Given the description of an element on the screen output the (x, y) to click on. 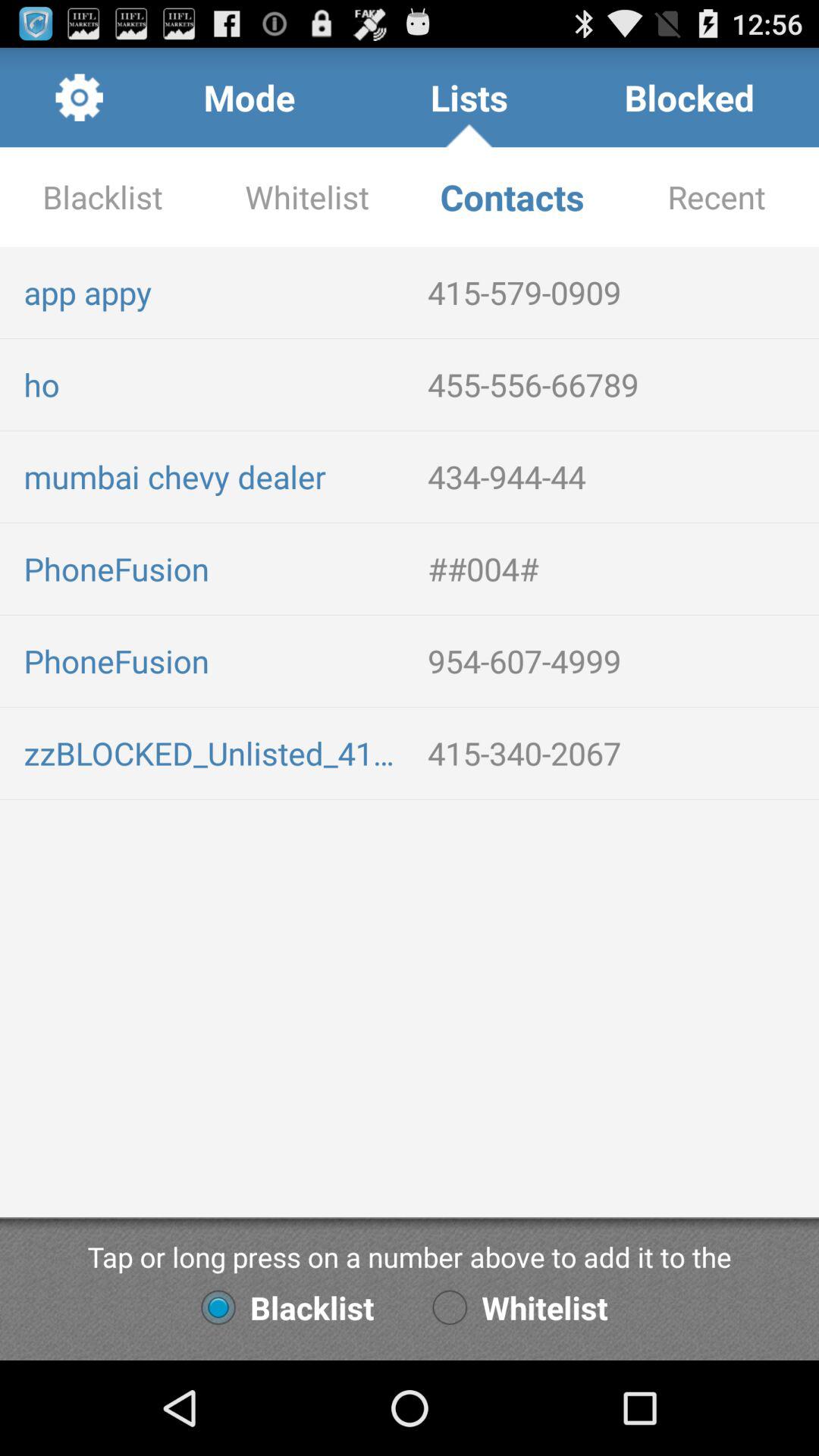
jump until the zzblocked_unlisted_4153402067 icon (213, 752)
